Given the description of an element on the screen output the (x, y) to click on. 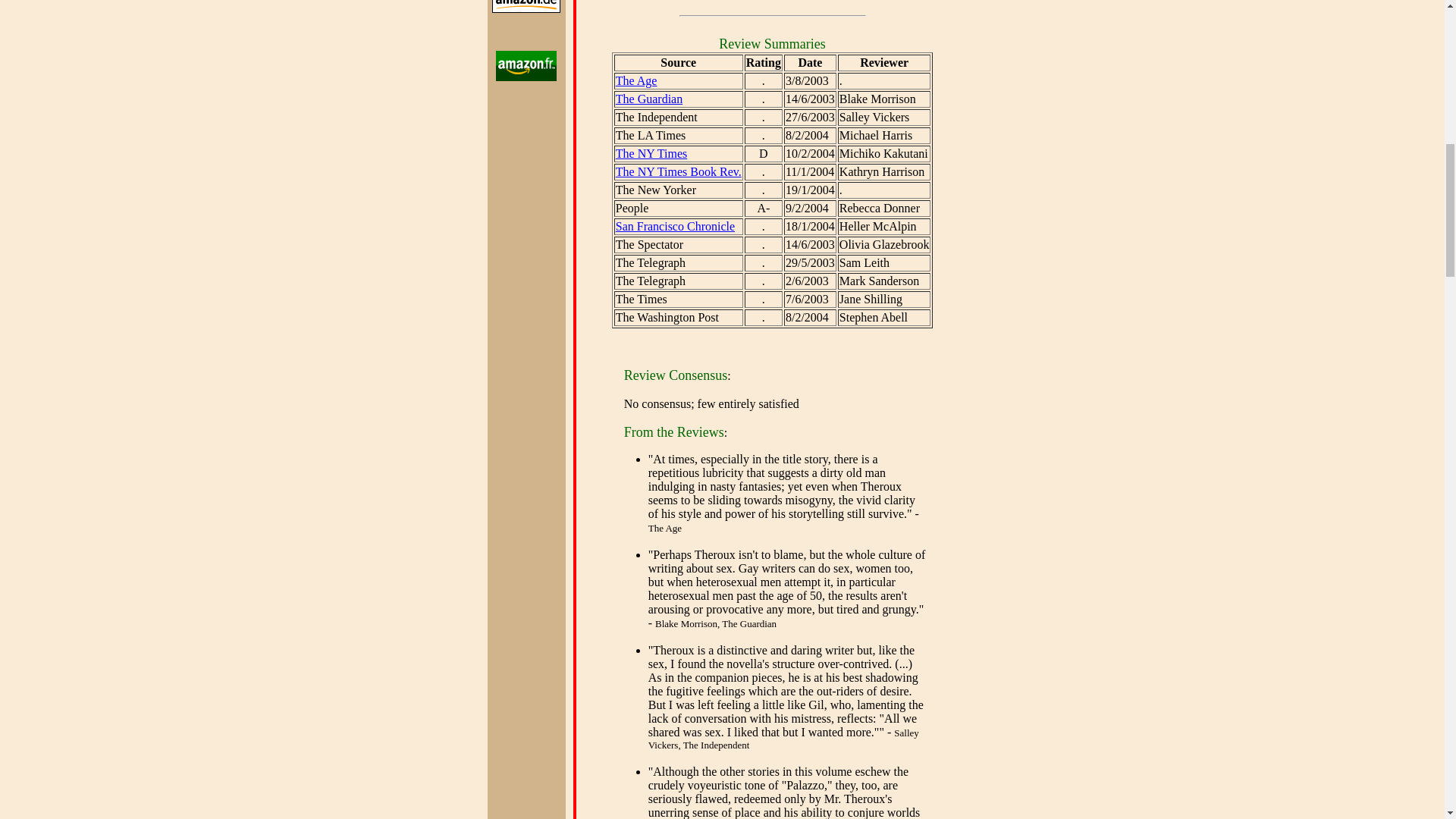
The NY Times Book Rev. (678, 171)
The Age (636, 80)
Review Summaries (772, 43)
Advertisement (758, 4)
The Guardian (648, 98)
The NY Times (651, 153)
San Francisco Chronicle (675, 226)
